Given the description of an element on the screen output the (x, y) to click on. 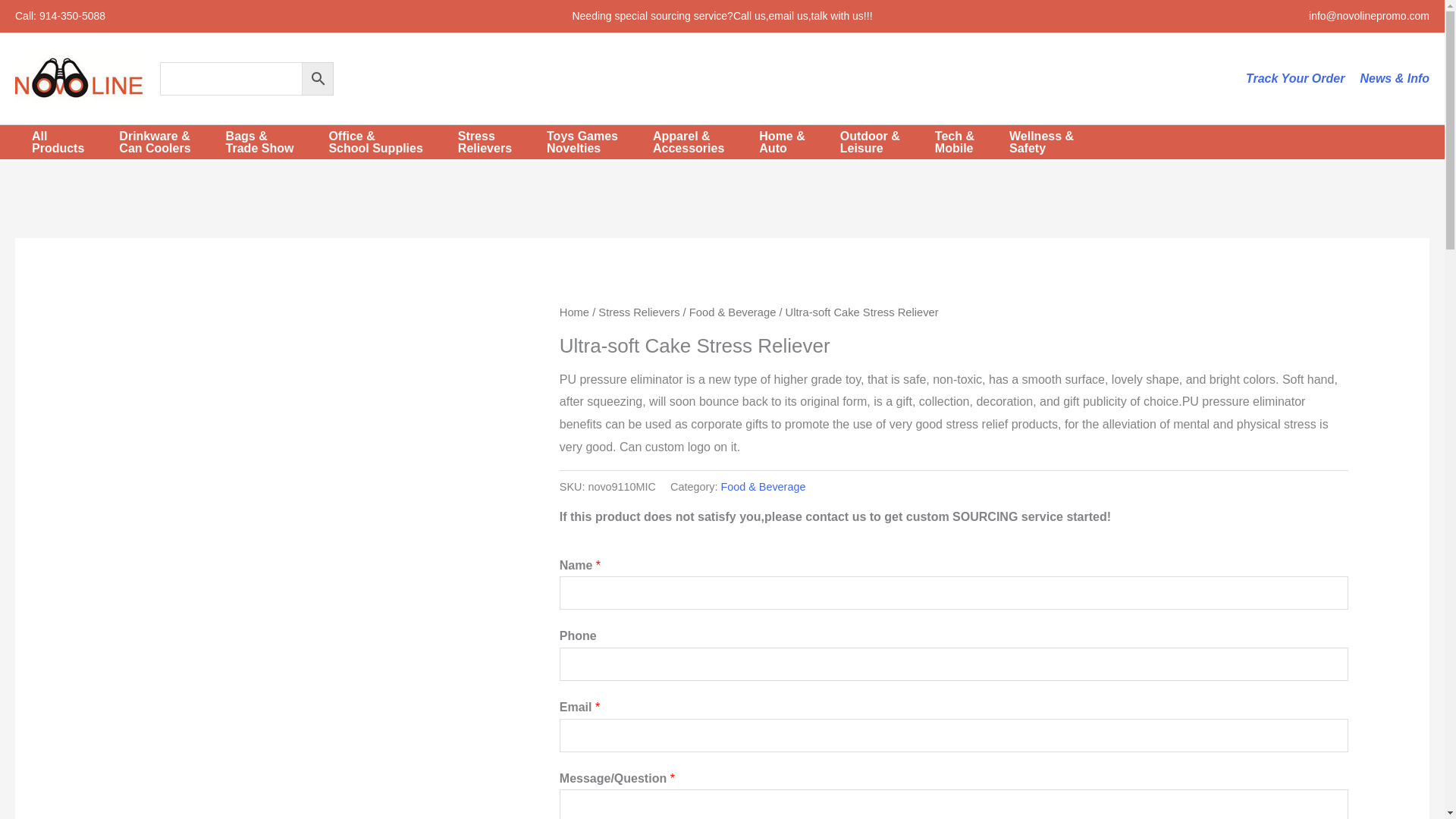
full-width (1046, 142)
news-info (63, 142)
Call: 914-350-5088 (1394, 78)
Track Your Order (59, 15)
